Given the description of an element on the screen output the (x, y) to click on. 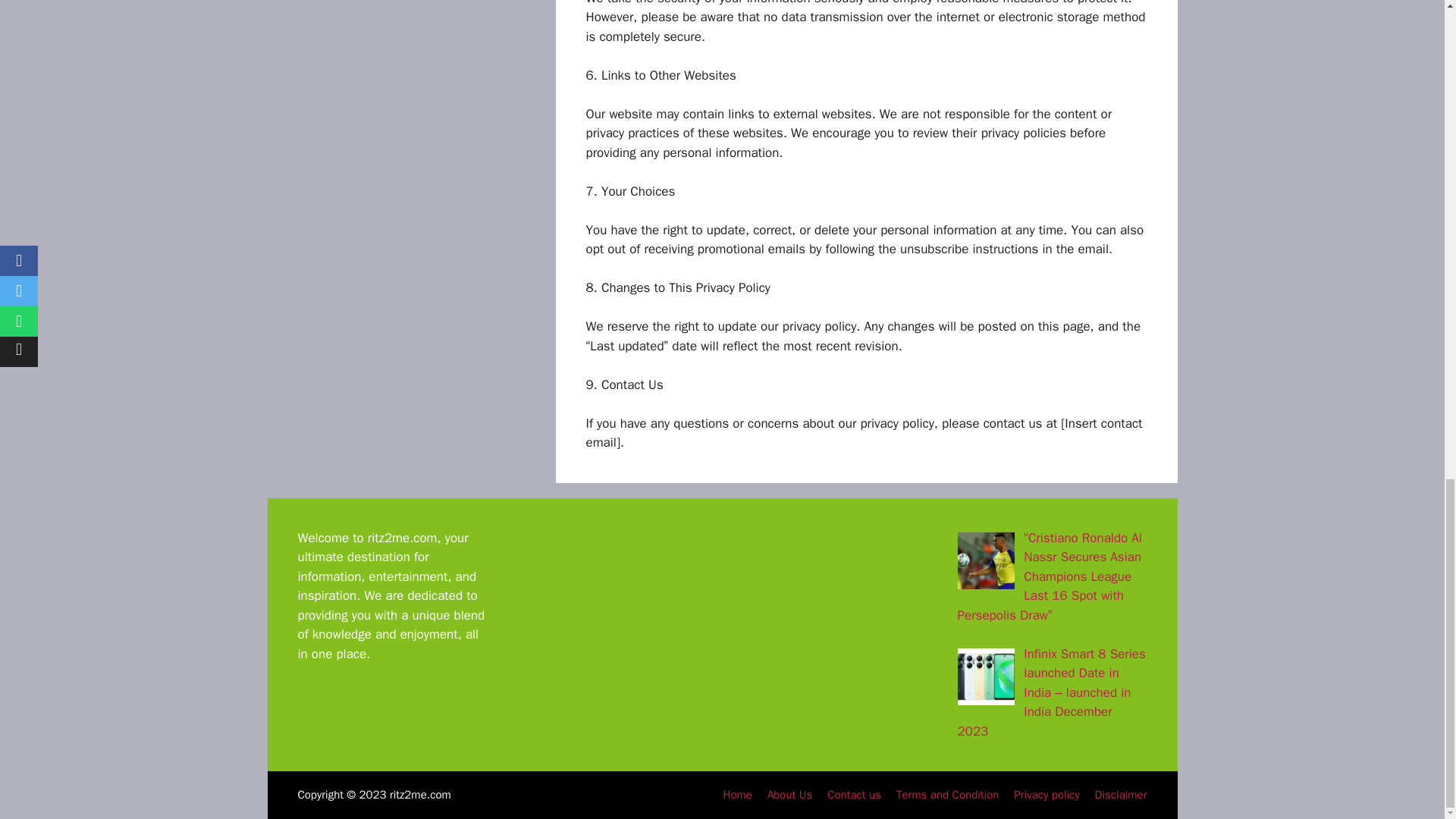
Contact us (853, 794)
Scroll back to top (1406, 373)
Privacy policy (1045, 794)
Home (737, 794)
Terms and Condition (947, 794)
Disclaimer (1120, 794)
About Us (789, 794)
